Given the description of an element on the screen output the (x, y) to click on. 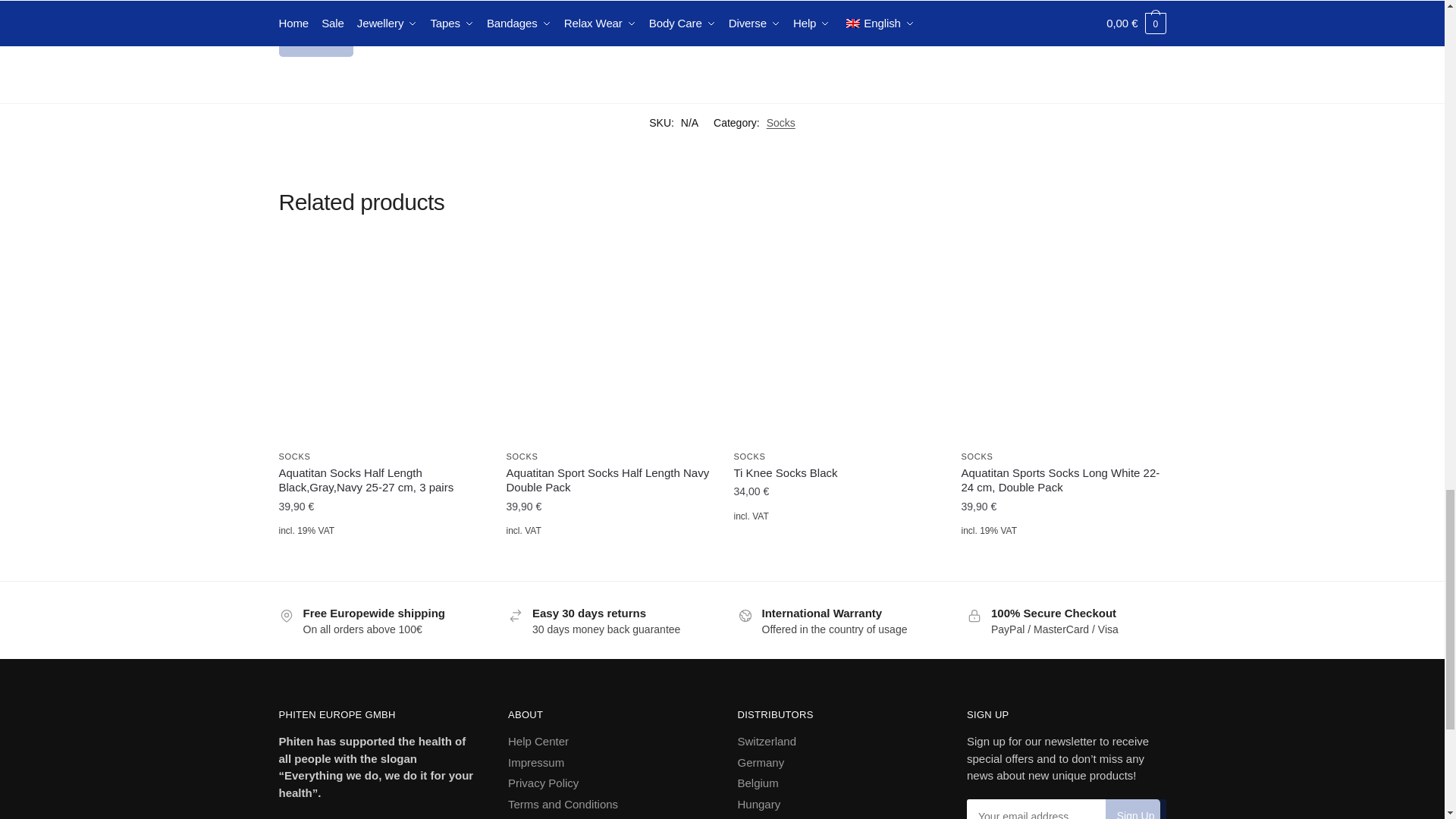
yes (283, 2)
Sign up (1135, 809)
Submit (316, 38)
